Given the description of an element on the screen output the (x, y) to click on. 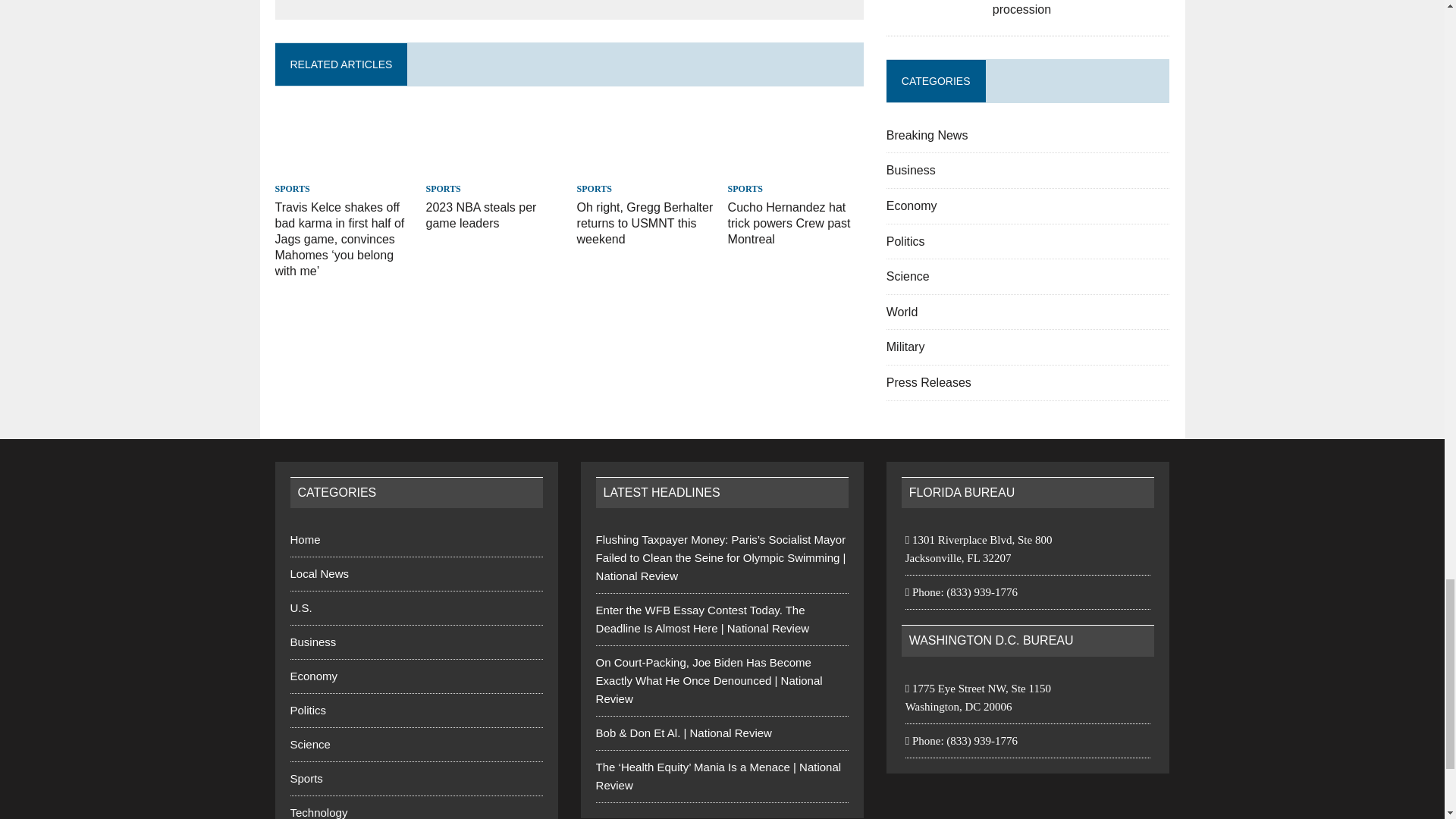
2023 NBA steals per game leaders (494, 168)
Cucho Hernandez hat trick powers Crew past Montreal (796, 168)
Oh right, Gregg Berhalter returns to USMNT this weekend (644, 168)
2023 NBA steals per game leaders (481, 215)
Cucho Hernandez hat trick powers Crew past Montreal (789, 222)
Oh right, Gregg Berhalter returns to USMNT this weekend (644, 222)
